Given the description of an element on the screen output the (x, y) to click on. 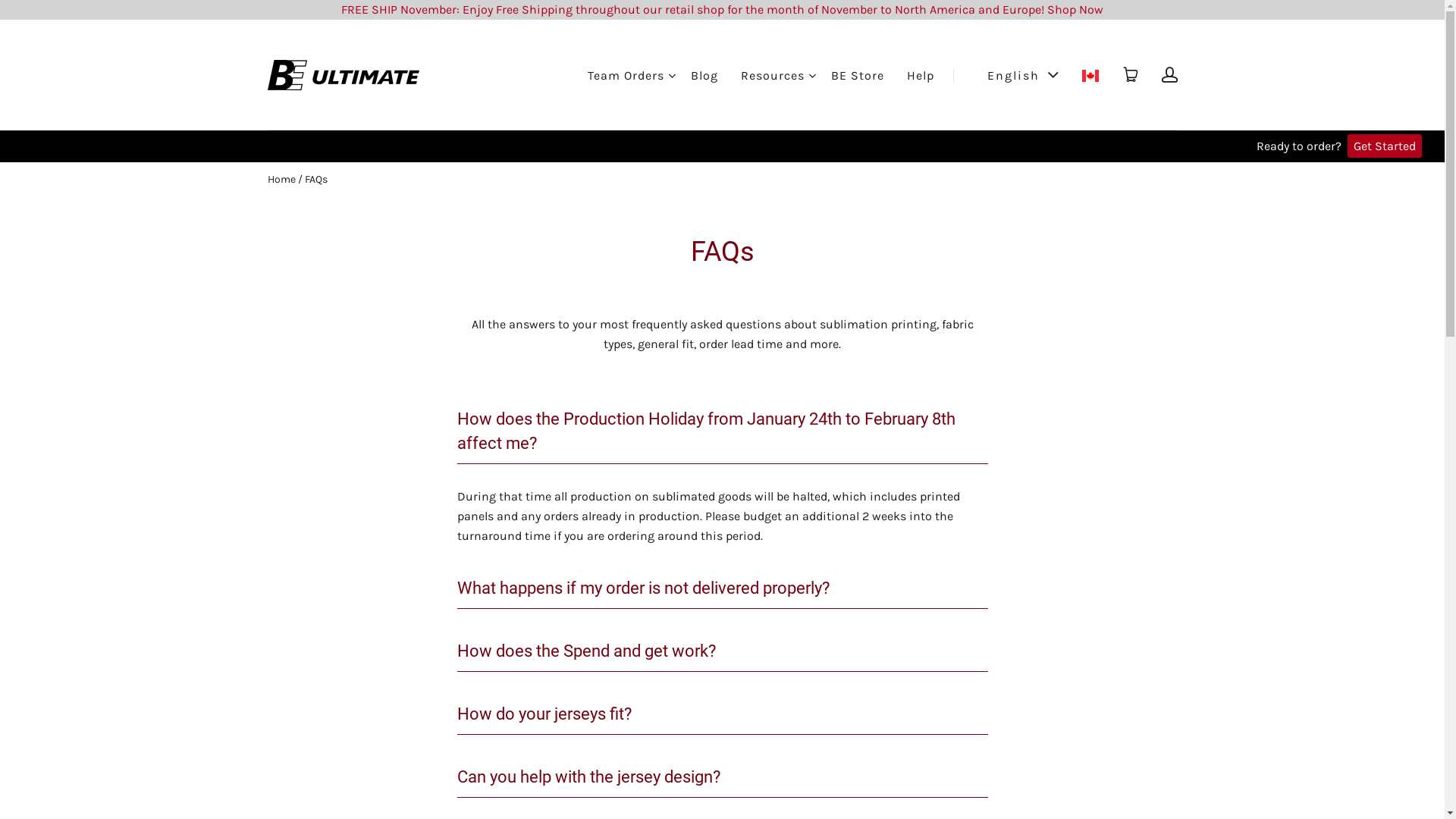
How do your jerseys fit? Element type: text (721, 714)
Blog Element type: text (703, 75)
How does the Spend and get work? Element type: text (721, 651)
Resources Element type: text (771, 75)
What happens if my order is not delivered properly? Element type: text (721, 588)
Team Orders Element type: text (624, 75)
Home Element type: text (280, 178)
Help Element type: text (920, 75)
Get Started Element type: text (1384, 145)
Can you help with the jersey design? Element type: text (721, 777)
BE Store Element type: text (857, 75)
